Given the description of an element on the screen output the (x, y) to click on. 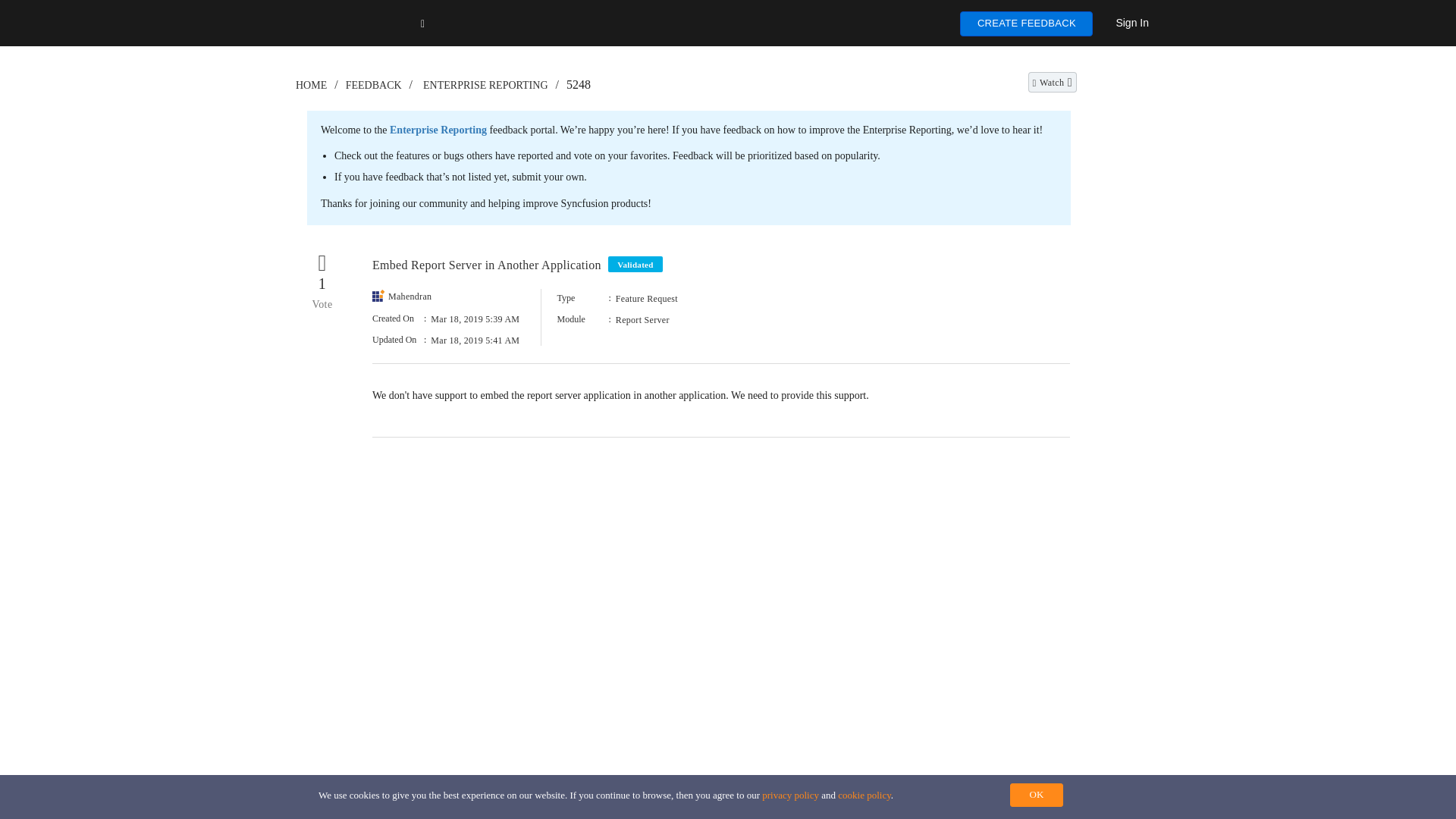
ENTERPRISE REPORTING (485, 84)
FEEDBACK (373, 84)
HOME (310, 84)
Enterprise Reporting (438, 129)
Watch (1052, 82)
Sign In (1131, 22)
CREATE FEEDBACK (1026, 23)
